Given the description of an element on the screen output the (x, y) to click on. 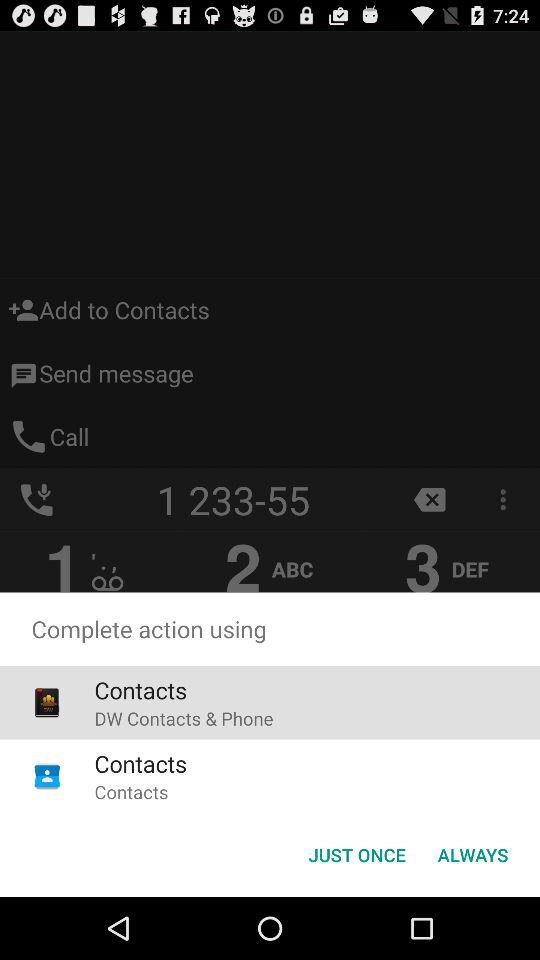
choose the item to the left of always (356, 854)
